Given the description of an element on the screen output the (x, y) to click on. 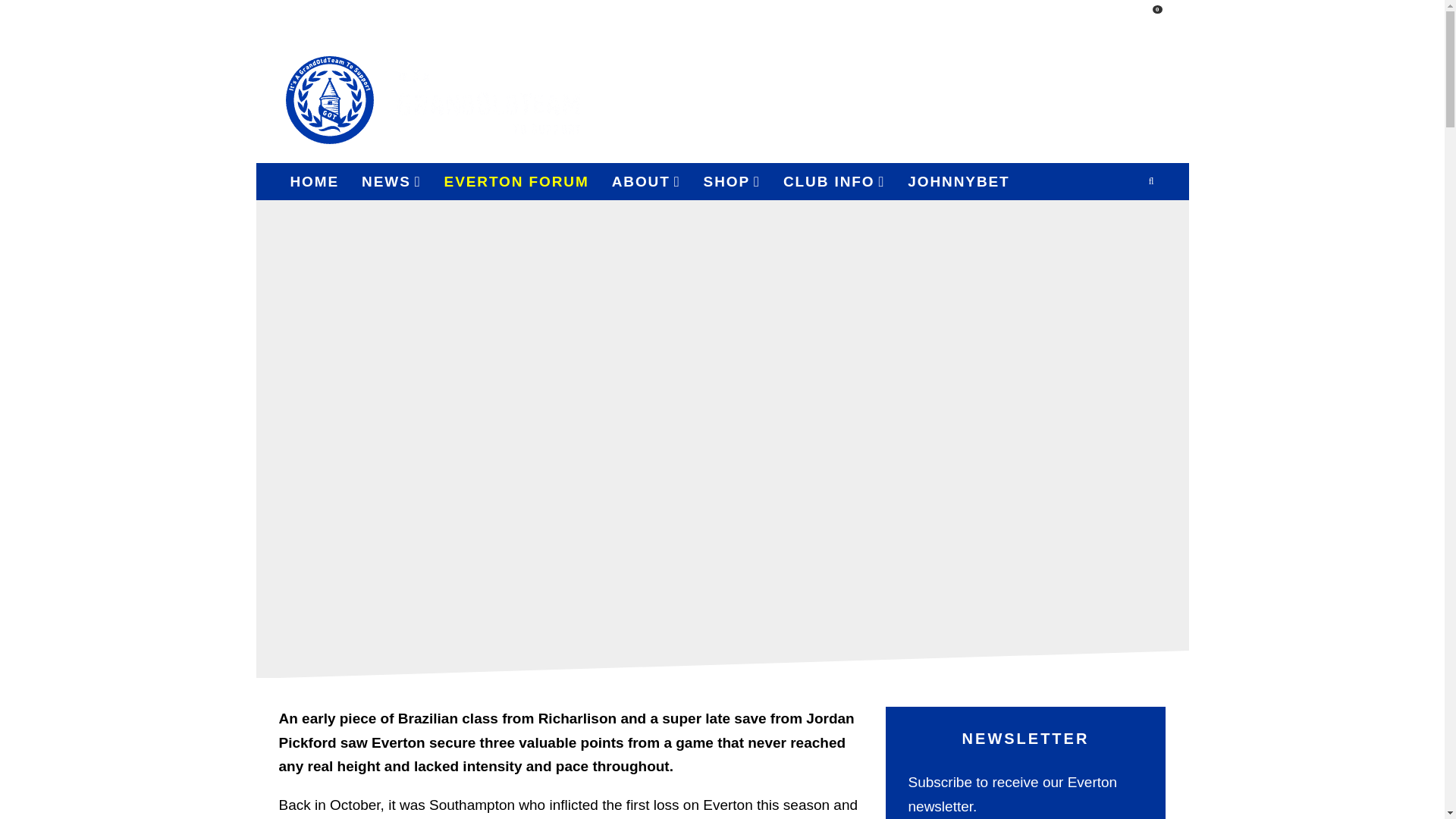
SHOP (732, 181)
Grand Old Team Shop (1094, 98)
SUBSCRIBE (1013, 18)
HOME (314, 181)
CLUB INFO (833, 181)
ABOUT (646, 181)
NEWS (391, 181)
About (646, 181)
EVERTON FORUM (515, 181)
